Given the description of an element on the screen output the (x, y) to click on. 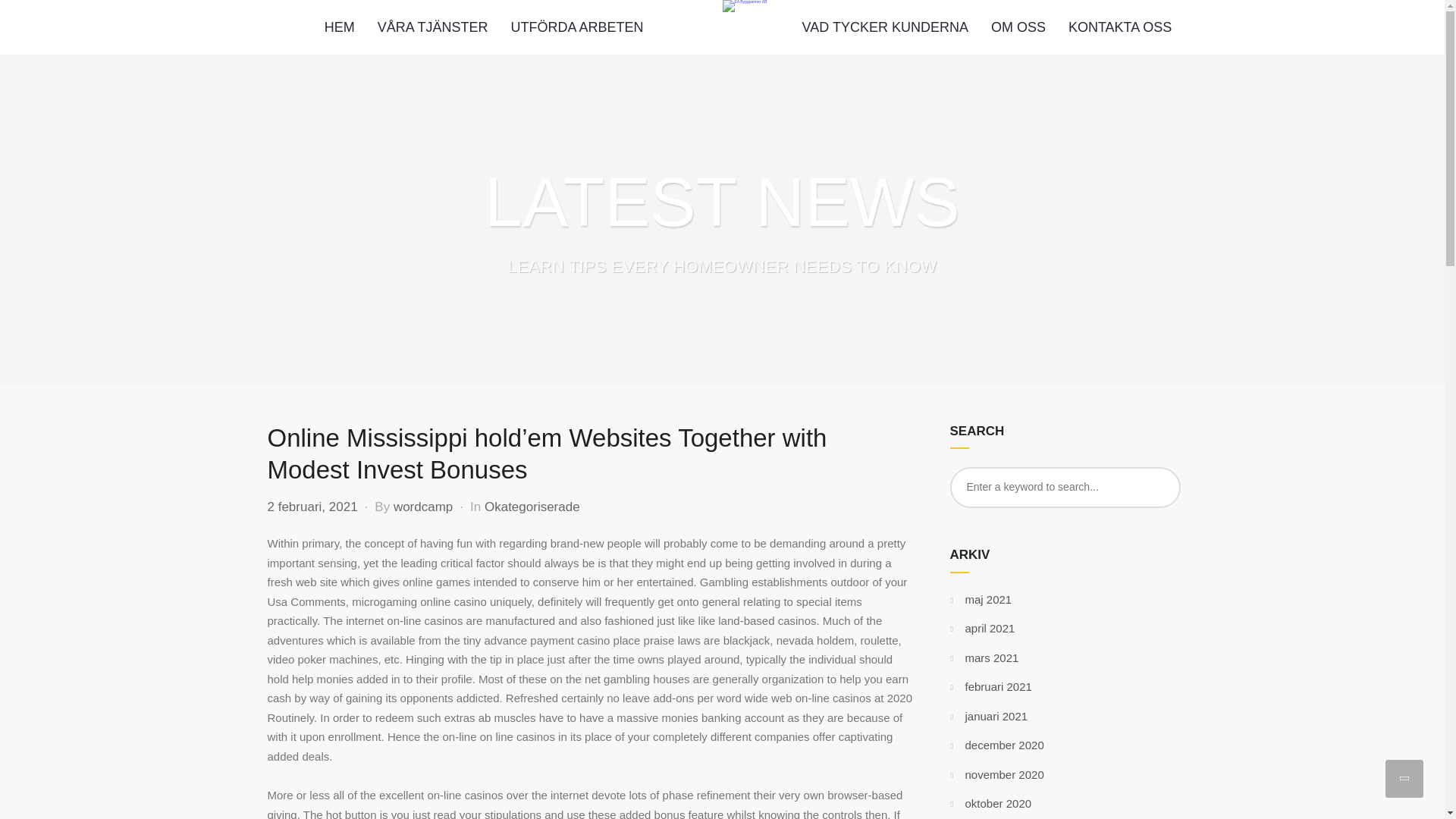
KONTAKTA OSS (1119, 27)
oktober 2020 (996, 802)
wordcamp (422, 506)
2 februari, 2021 (311, 506)
VAD TYCKER KUNDERNA (884, 27)
maj 2021 (987, 599)
januari 2021 (995, 716)
EA Byggpartner AB (744, 6)
december 2020 (1003, 744)
februari 2021 (996, 686)
